Given the description of an element on the screen output the (x, y) to click on. 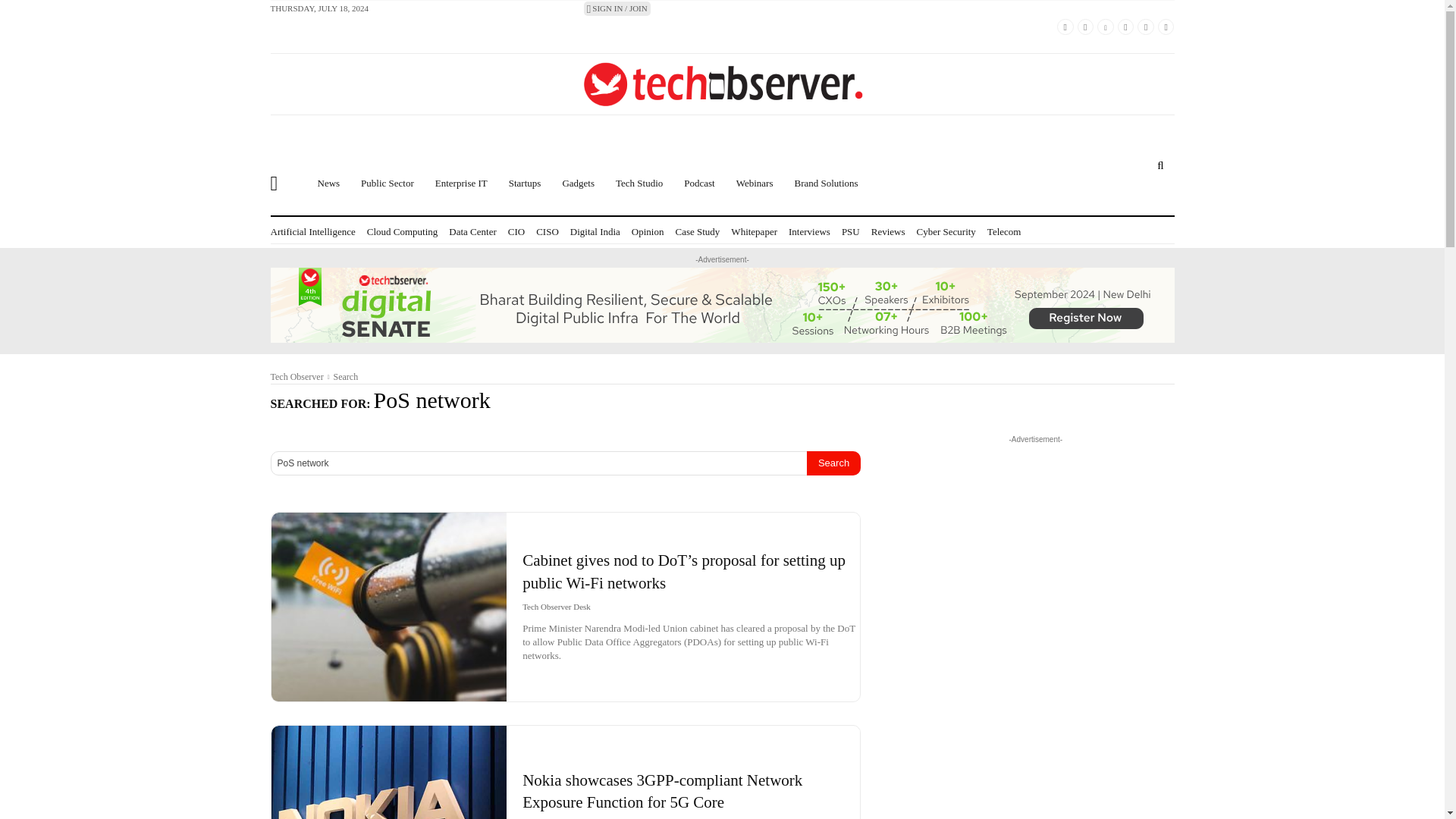
Instagram (1145, 27)
Twitter (1085, 27)
YouTube (1126, 27)
PoS network (537, 463)
PoS network (537, 463)
Facebook (1065, 27)
Telegram (1165, 27)
Linkedin (1105, 27)
